Given the description of an element on the screen output the (x, y) to click on. 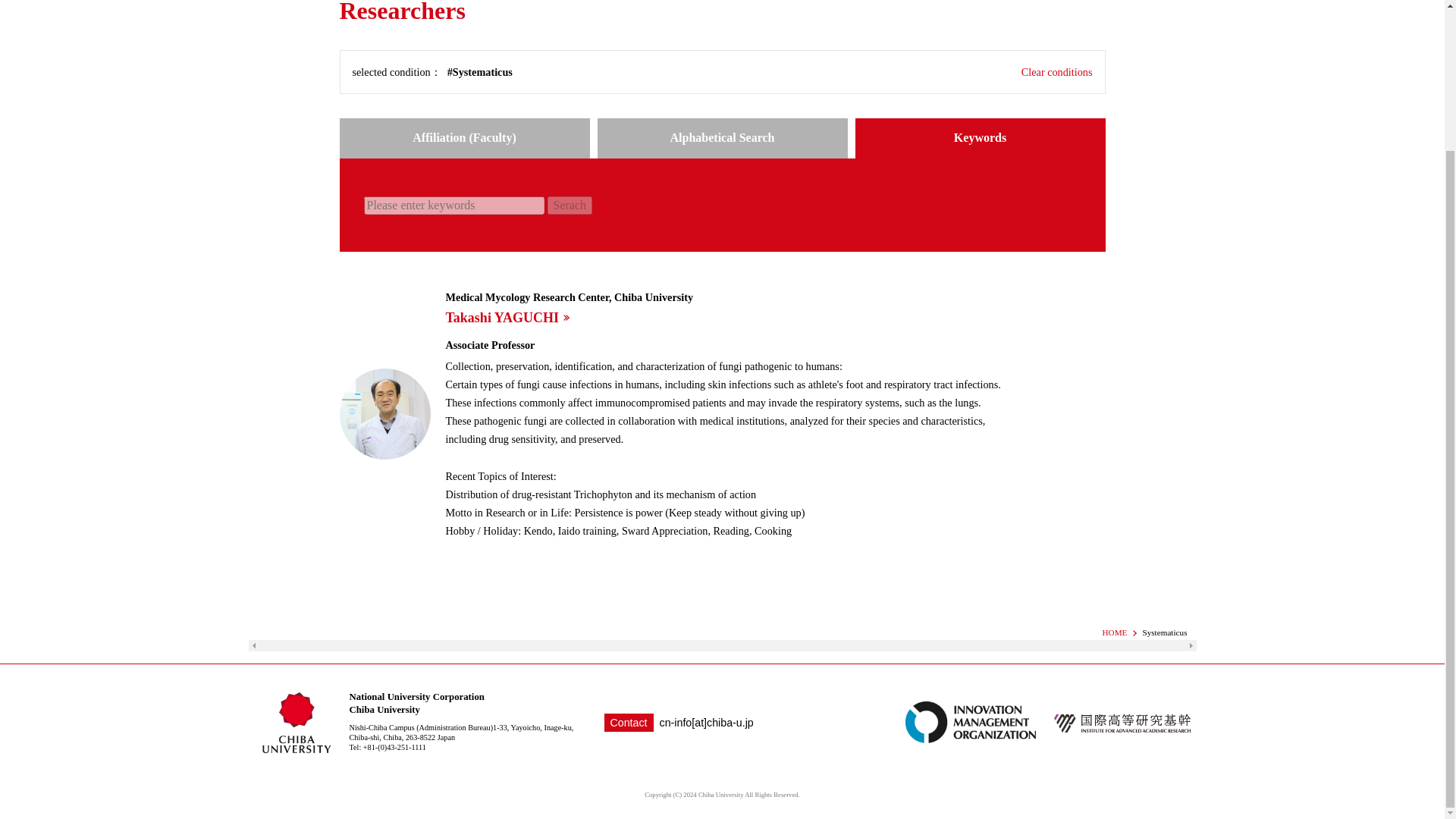
Keywords (980, 137)
Serach (569, 205)
Clear conditions (1057, 72)
Alphabetical Search (721, 137)
